Given the description of an element on the screen output the (x, y) to click on. 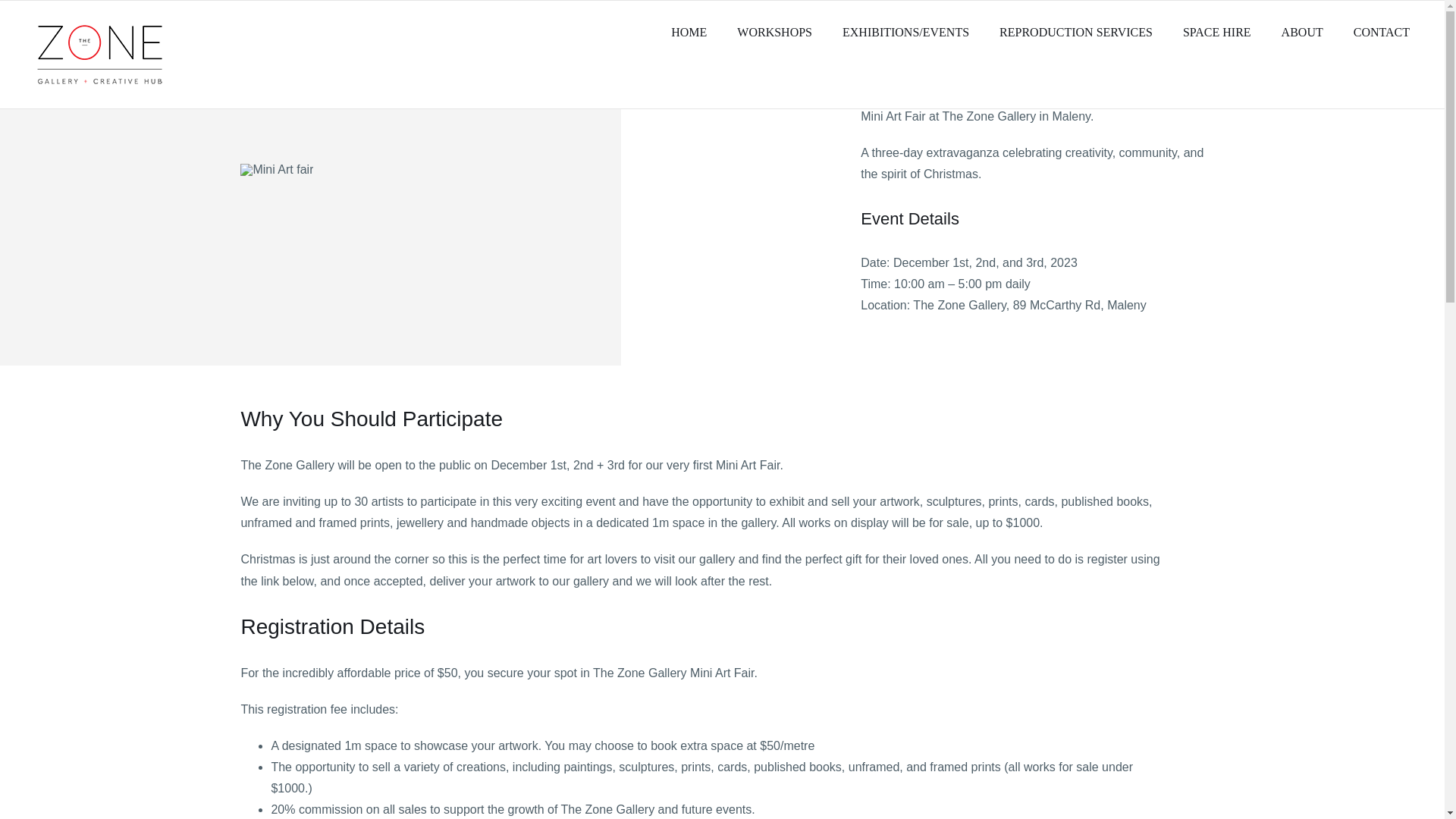
Mini Art fair (276, 169)
REPRODUCTION SERVICES (1075, 32)
WORKSHOPS (774, 32)
SPACE HIRE (1216, 32)
